Given the description of an element on the screen output the (x, y) to click on. 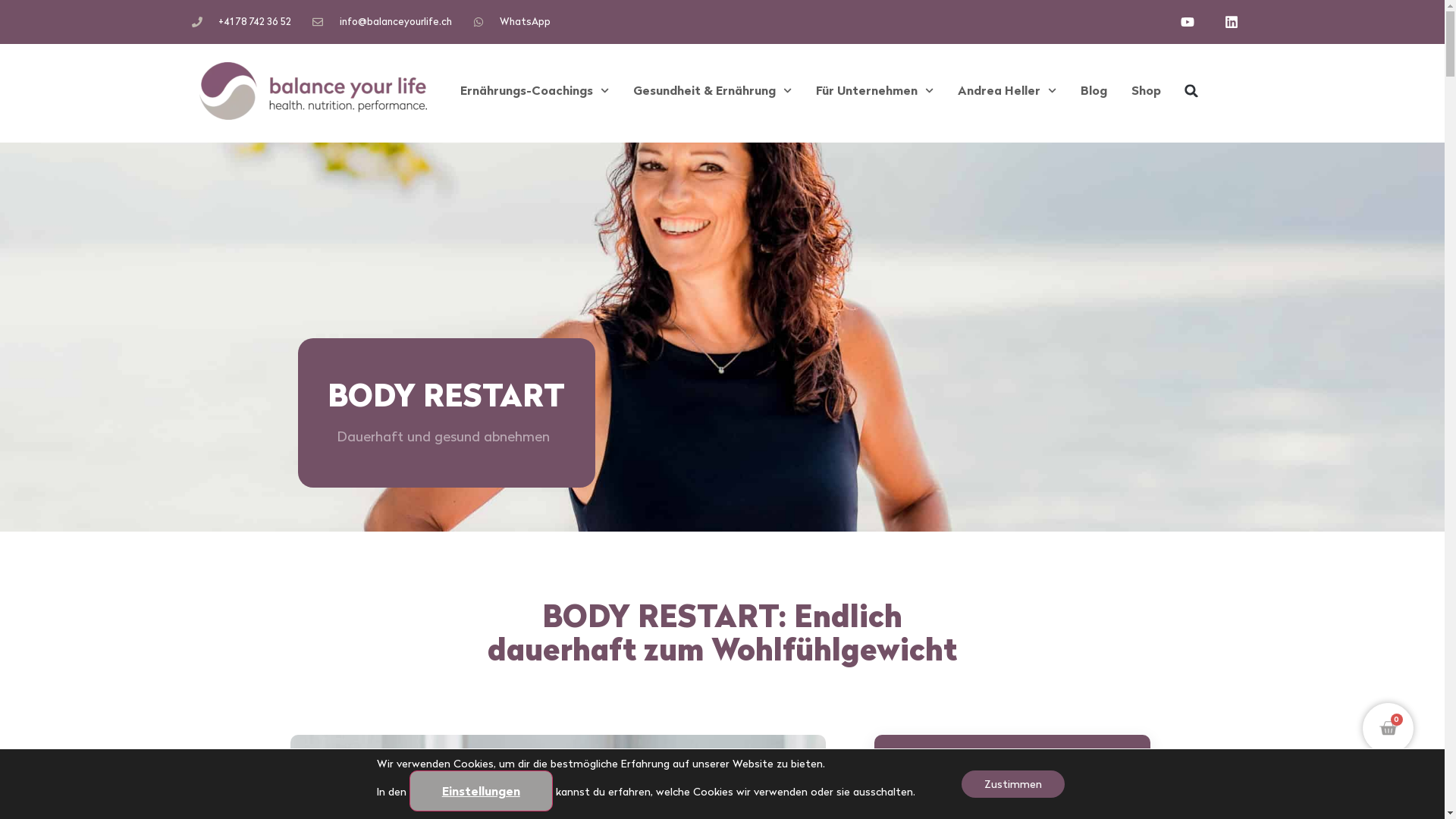
0 Element type: text (1387, 727)
Zustimmen Element type: text (1012, 783)
Andrea Heller Element type: text (1006, 90)
info@balanceyourlife.ch Element type: text (381, 21)
Blog Element type: text (1093, 90)
WhatsApp Element type: text (512, 21)
Shop Element type: text (1146, 90)
+41 78 742 36 52 Element type: text (241, 21)
Einstellungen Element type: text (480, 790)
